Given the description of an element on the screen output the (x, y) to click on. 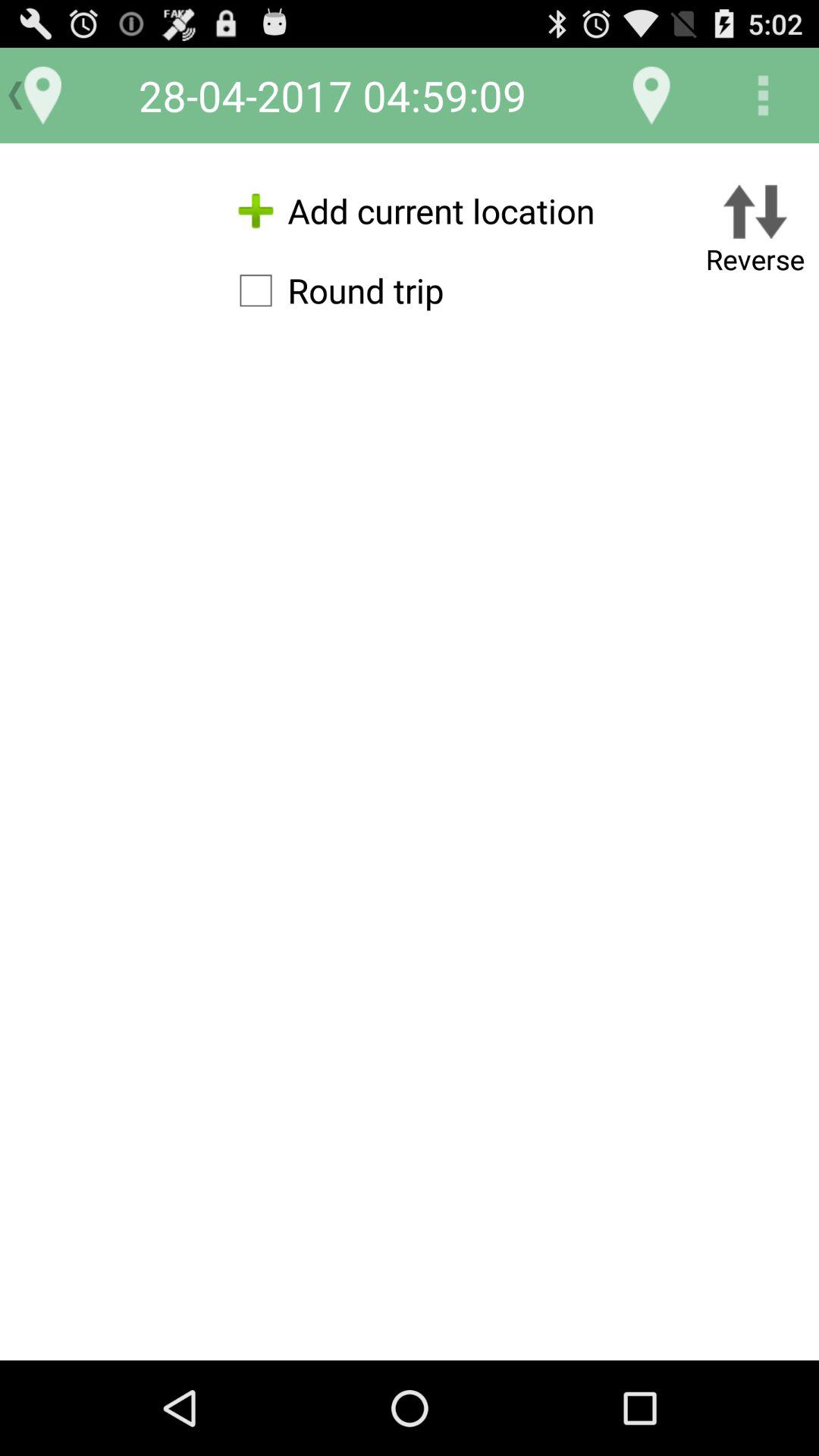
turn off the item above the reverse item (763, 95)
